Given the description of an element on the screen output the (x, y) to click on. 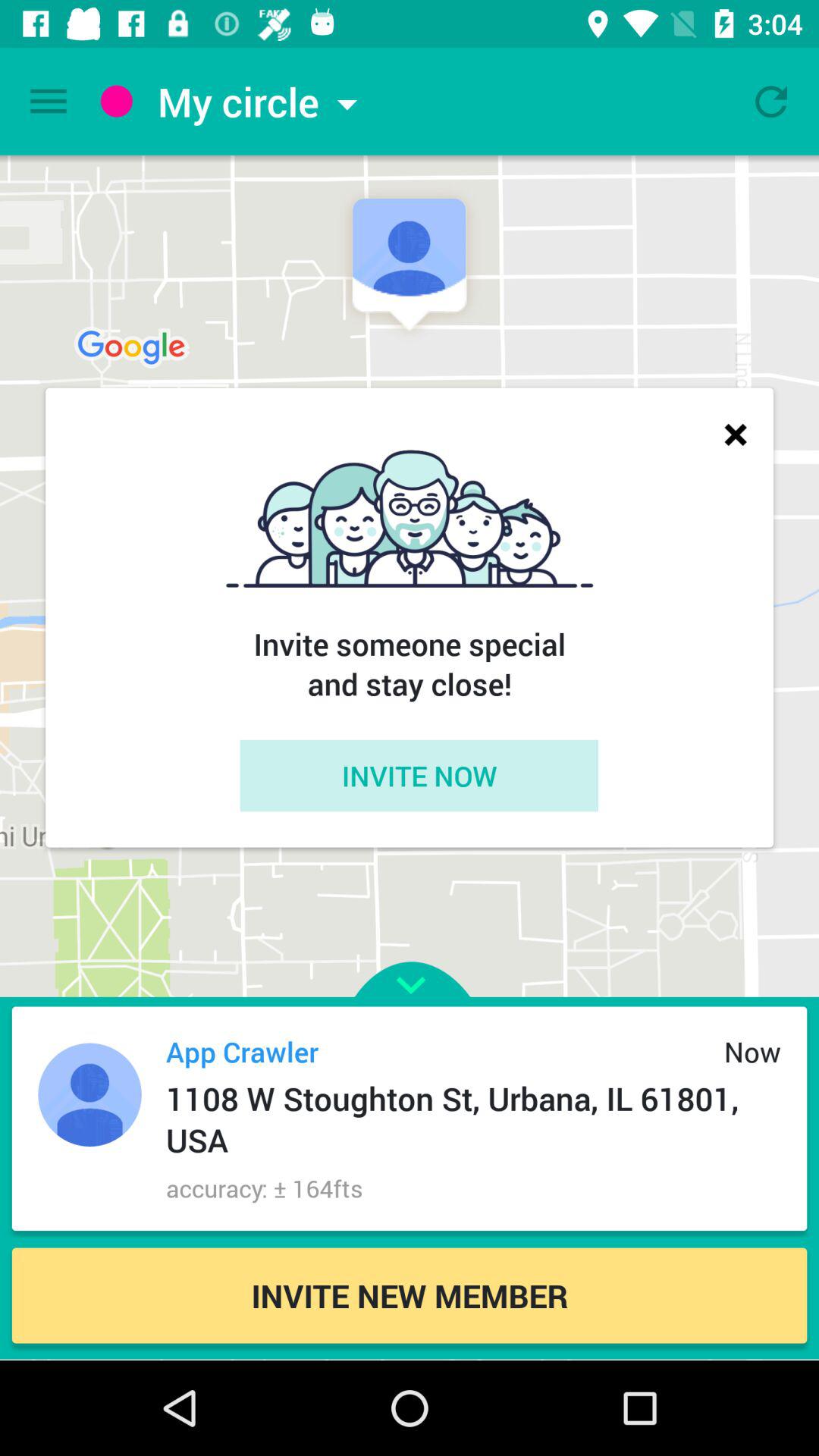
turn off the icon below invite now item (409, 957)
